Given the description of an element on the screen output the (x, y) to click on. 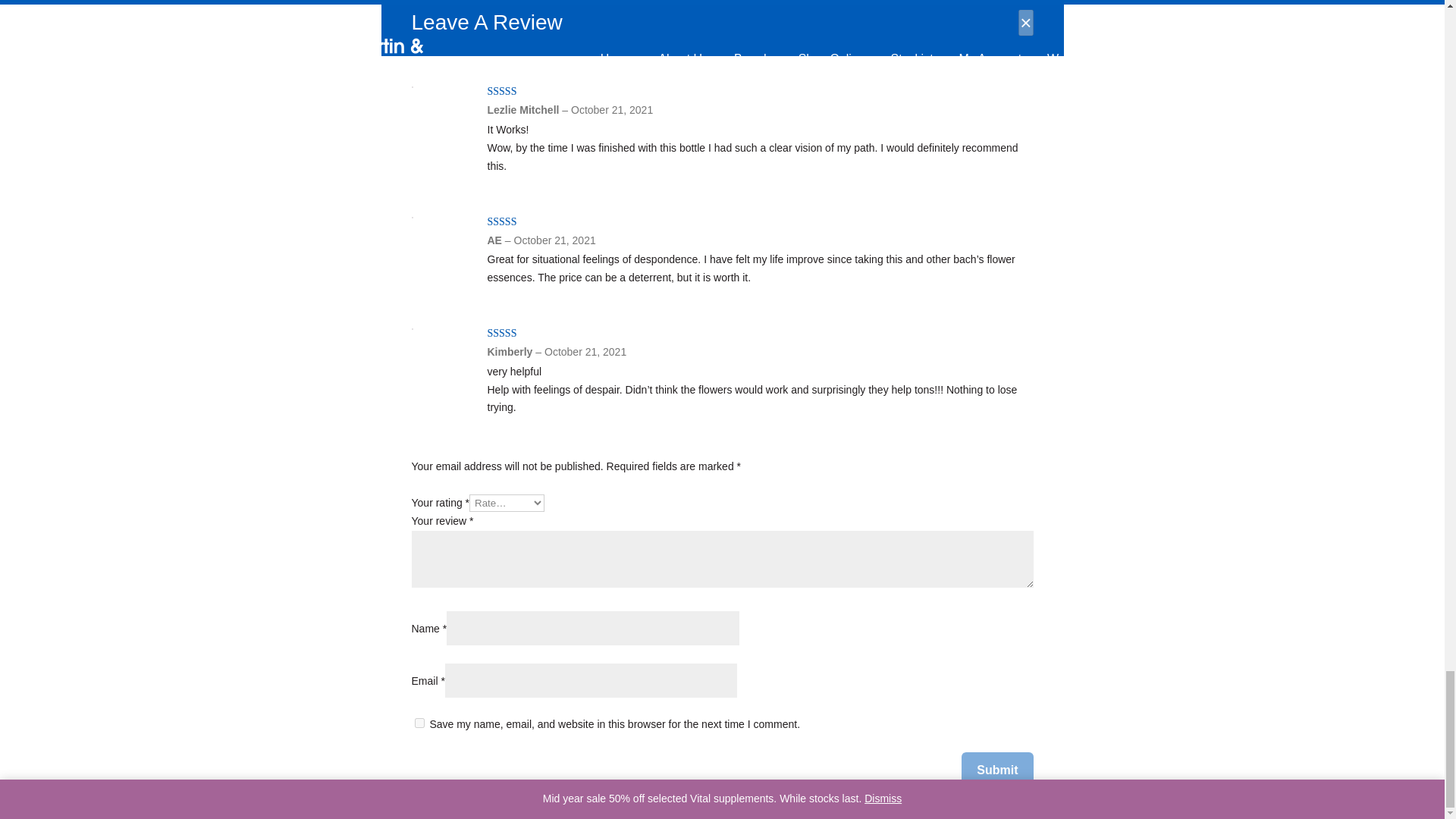
Submit (996, 770)
yes (418, 723)
